Given the description of an element on the screen output the (x, y) to click on. 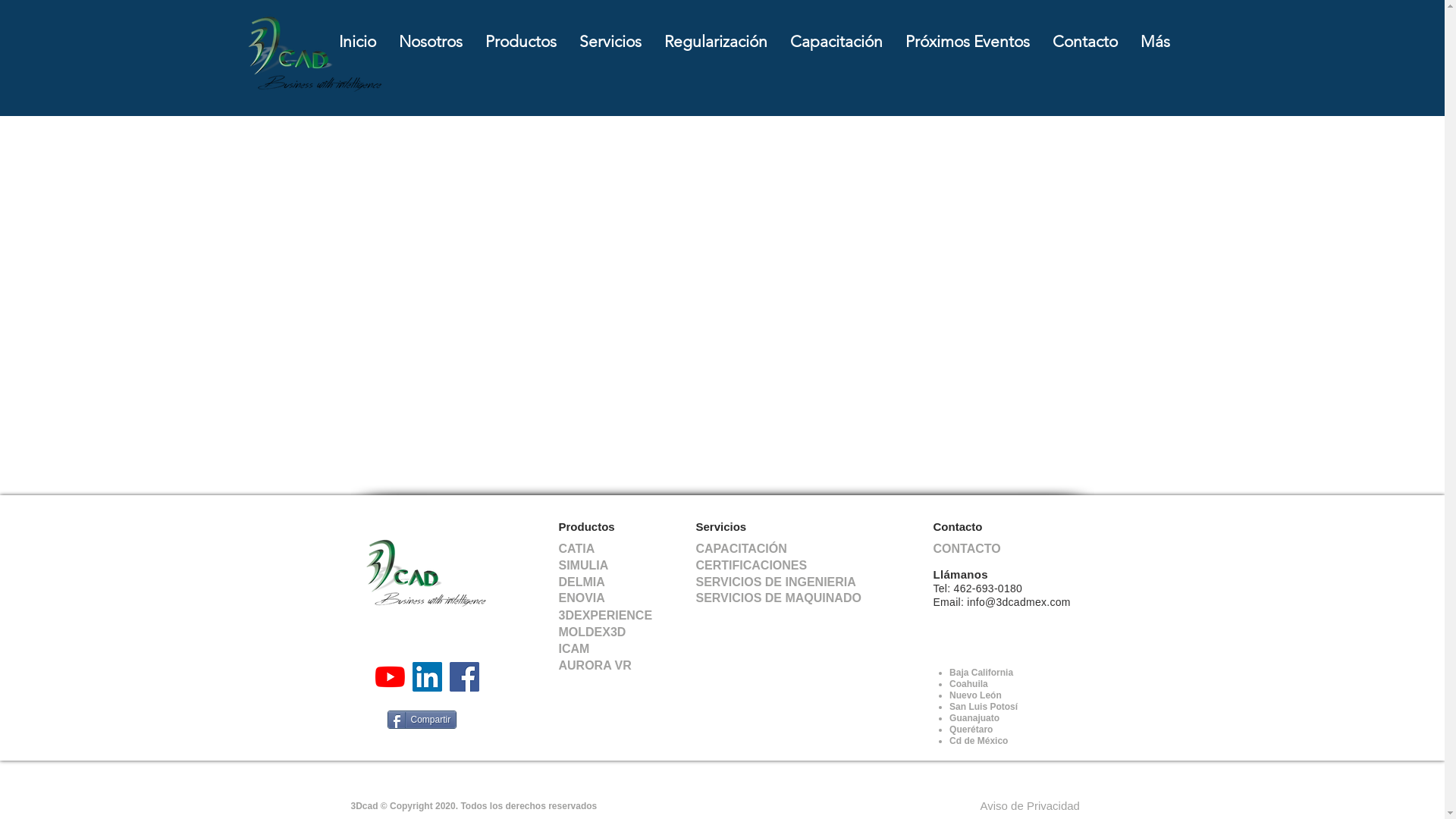
Inicio Element type: text (357, 40)
SERVICIOS DE INGENIERIA Element type: text (790, 582)
Nosotros Element type: text (429, 40)
SIMULIA Element type: text (588, 566)
ENOVIA Element type: text (584, 598)
CATIA Element type: text (578, 549)
info@3dcadmex.com Element type: text (1018, 602)
Compartir Element type: text (421, 719)
ICAM Element type: text (576, 649)
CERTIFICACIONES Element type: text (759, 566)
Contacto Element type: text (1084, 40)
Productos Element type: text (520, 40)
DELMIA Element type: text (584, 582)
CONTACTO Element type: text (969, 549)
AURORA VR Element type: text (598, 666)
MOLDEX3D Element type: text (595, 632)
Productos Element type: text (586, 526)
3DEXPERIENCE Element type: text (610, 616)
